Given the description of an element on the screen output the (x, y) to click on. 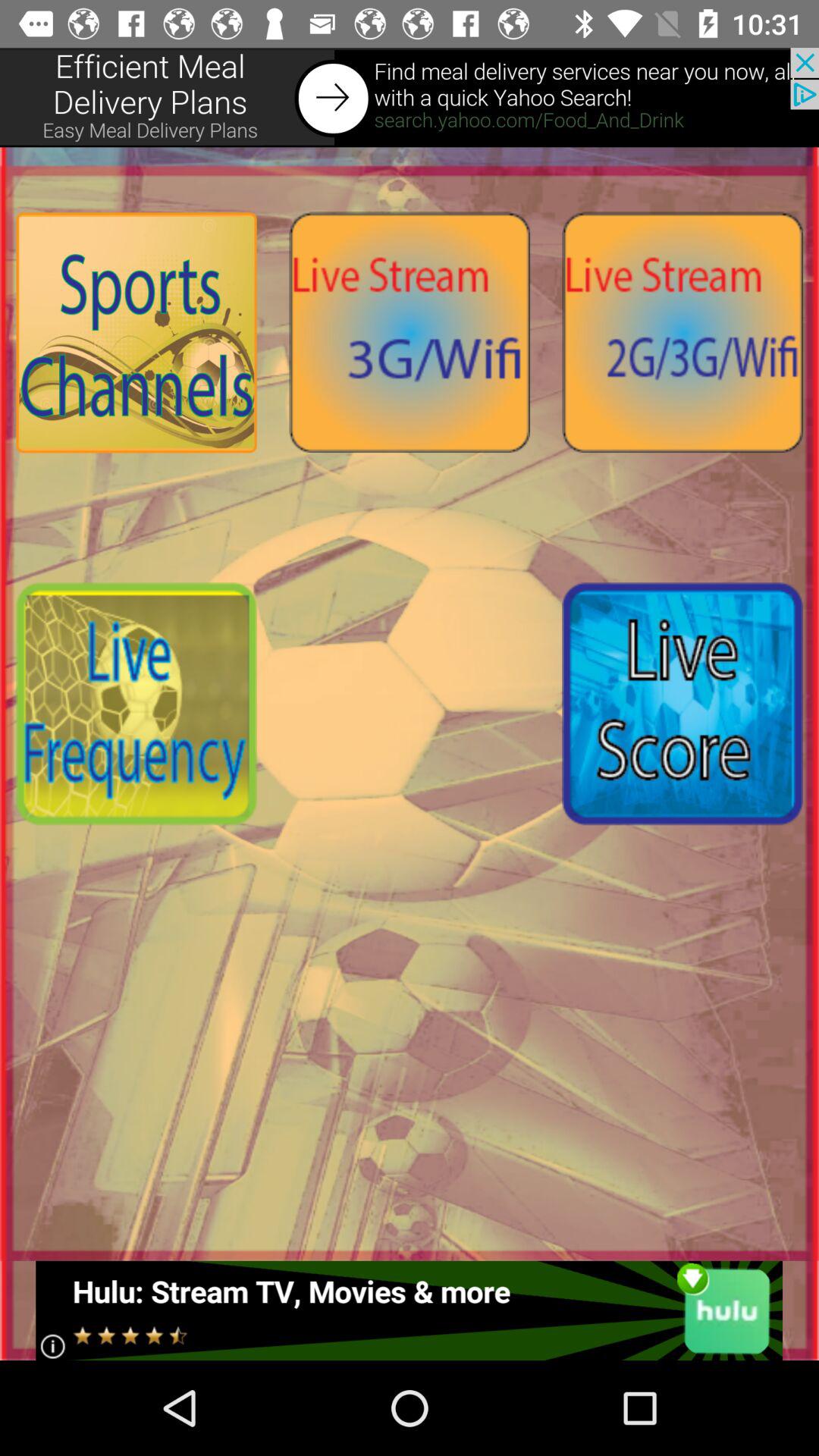
open live score (682, 703)
